Given the description of an element on the screen output the (x, y) to click on. 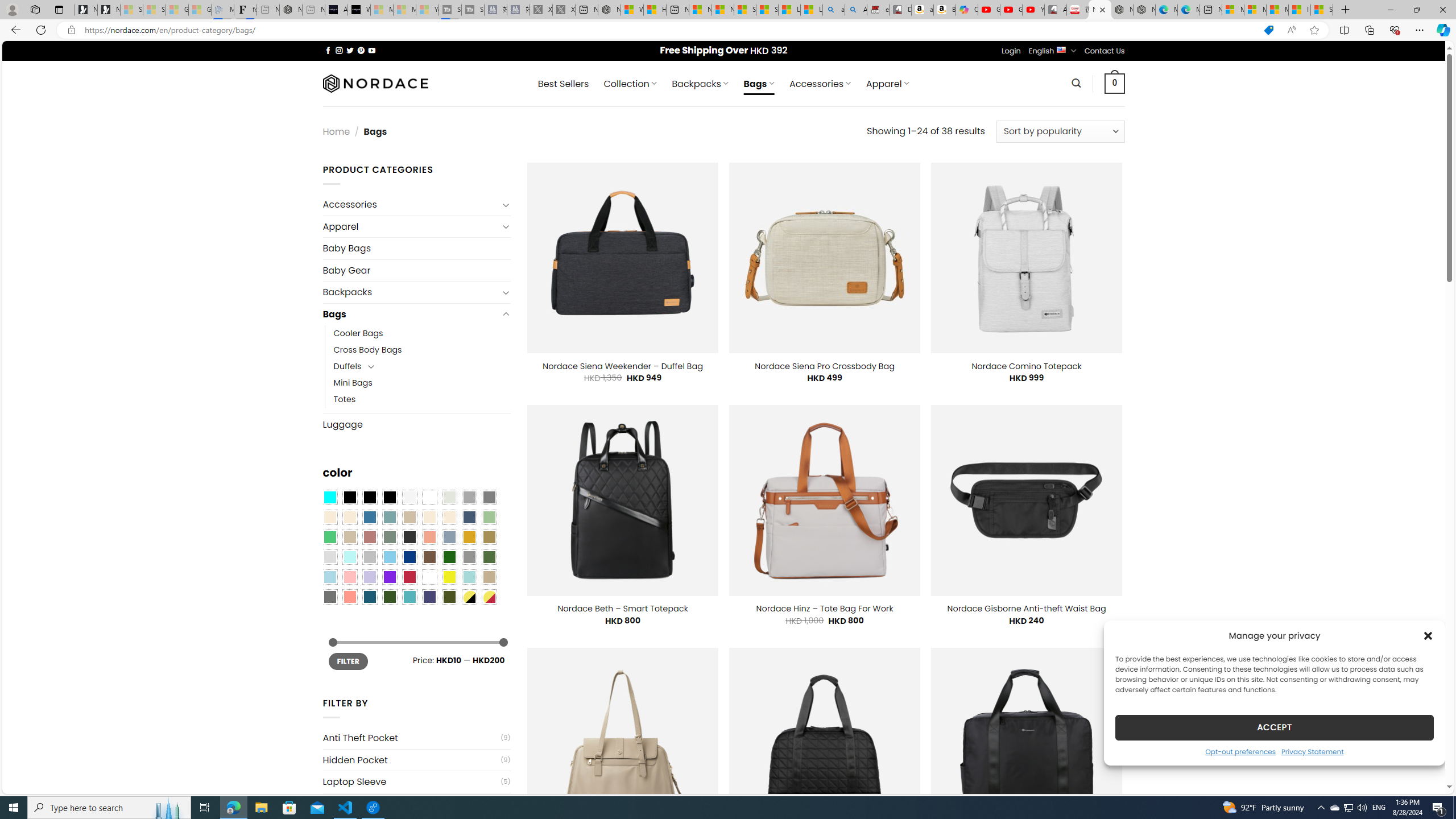
Follow on YouTube (371, 49)
AI Voice Changer for PC and Mac - Voice.ai (336, 9)
Search (1076, 83)
Laptop Sleeve(5) (416, 781)
Yellow-Red (488, 596)
Contact Us (1104, 50)
Pearly White (408, 497)
Cross Body Bags (422, 349)
What's the best AI voice generator? - voice.ai (359, 9)
Dark Green (449, 557)
